Given the description of an element on the screen output the (x, y) to click on. 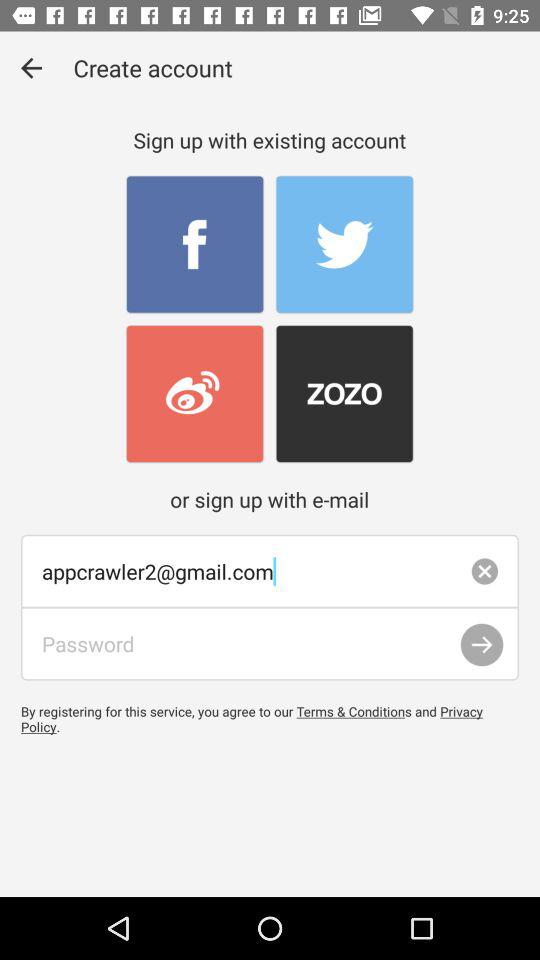
turn on the item at the top left corner (31, 68)
